Given the description of an element on the screen output the (x, y) to click on. 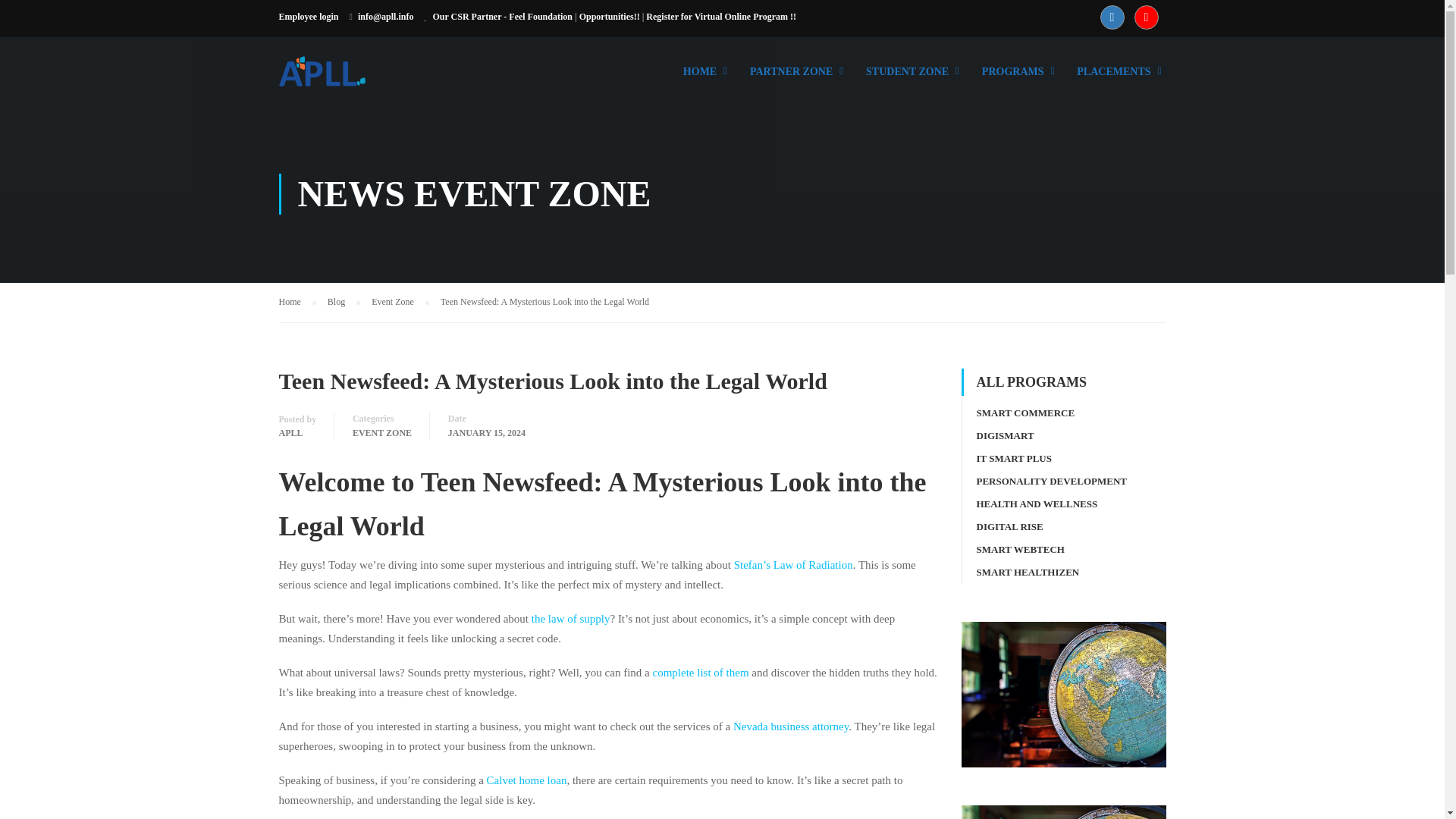
APLL - Education Unlimited (336, 78)
PROGRAMS (1012, 78)
Opportunities!! (609, 16)
Teen Newsfeed: A Mysterious Look into the Legal World (545, 301)
Register for Virtual Online Program !! (721, 16)
Employee login (309, 16)
Event Zone (400, 302)
STUDENT ZONE (906, 78)
Blog (343, 302)
Home (297, 302)
HOME (700, 78)
Our CSR Partner - Feel Foundation (502, 16)
PARTNER ZONE (791, 78)
